Given the description of an element on the screen output the (x, y) to click on. 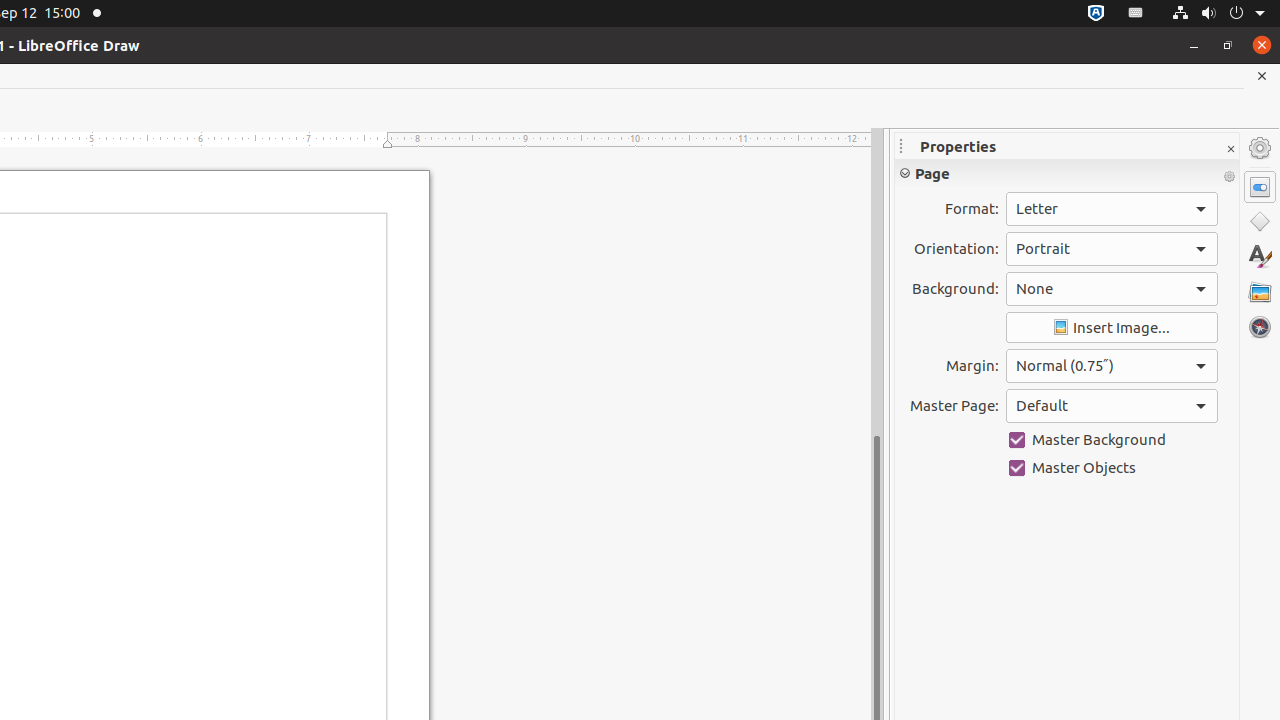
Styles Element type: radio-button (1260, 256)
Margin: Element type: combo-box (1112, 366)
